Given the description of an element on the screen output the (x, y) to click on. 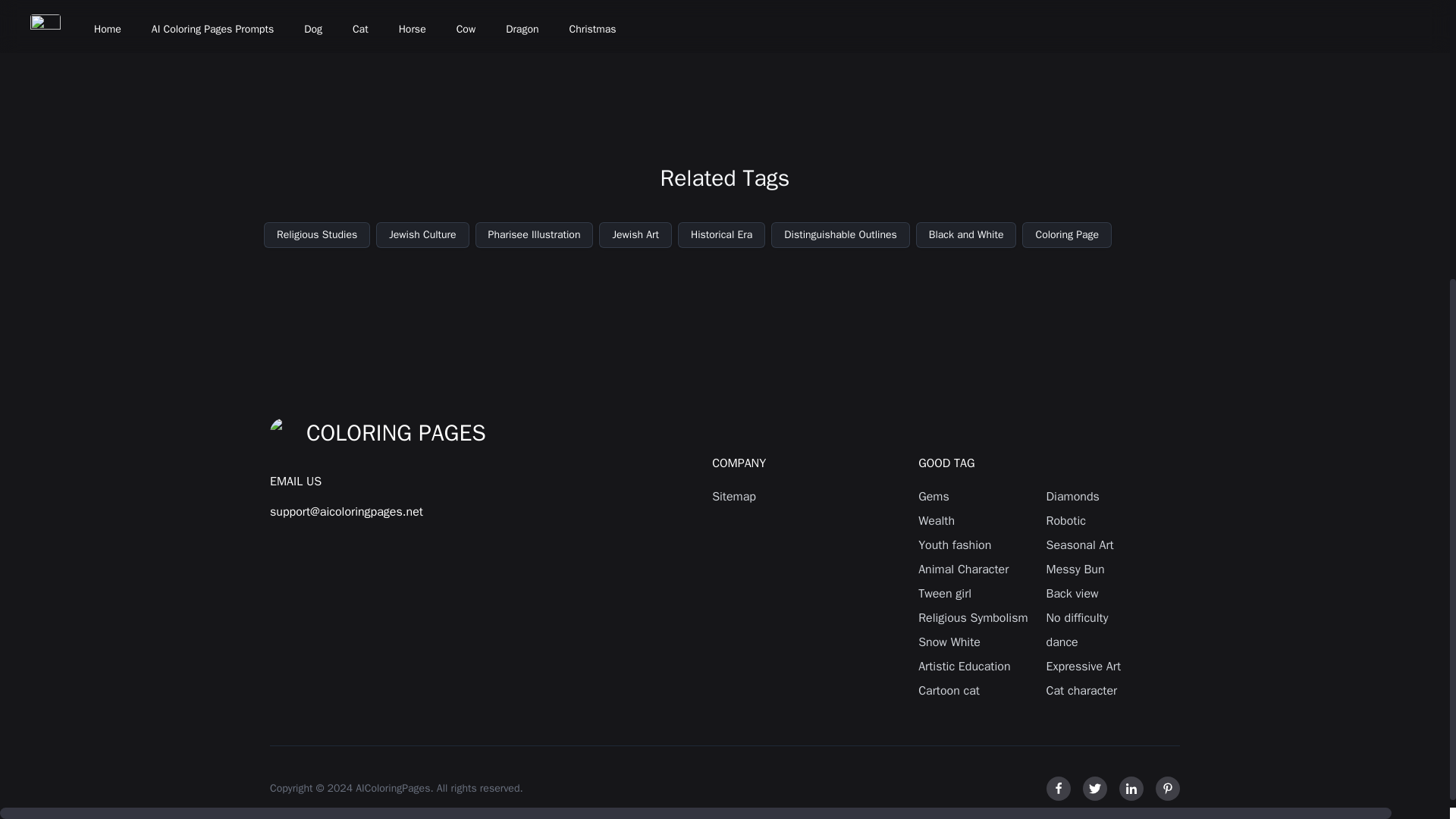
Expressive Art (1101, 666)
Distinguishable Outlines (839, 234)
Artistic Education (972, 666)
Religious Symbolism (972, 618)
Cartoon cat (972, 690)
Cat character (1101, 690)
Robotic (1101, 520)
Wealth (972, 520)
Diamonds (1101, 496)
Religious Studies (316, 234)
dance (1101, 642)
dance (1101, 642)
Animal Character (972, 569)
Animal Character (972, 569)
Expressive Art (1101, 666)
